Given the description of an element on the screen output the (x, y) to click on. 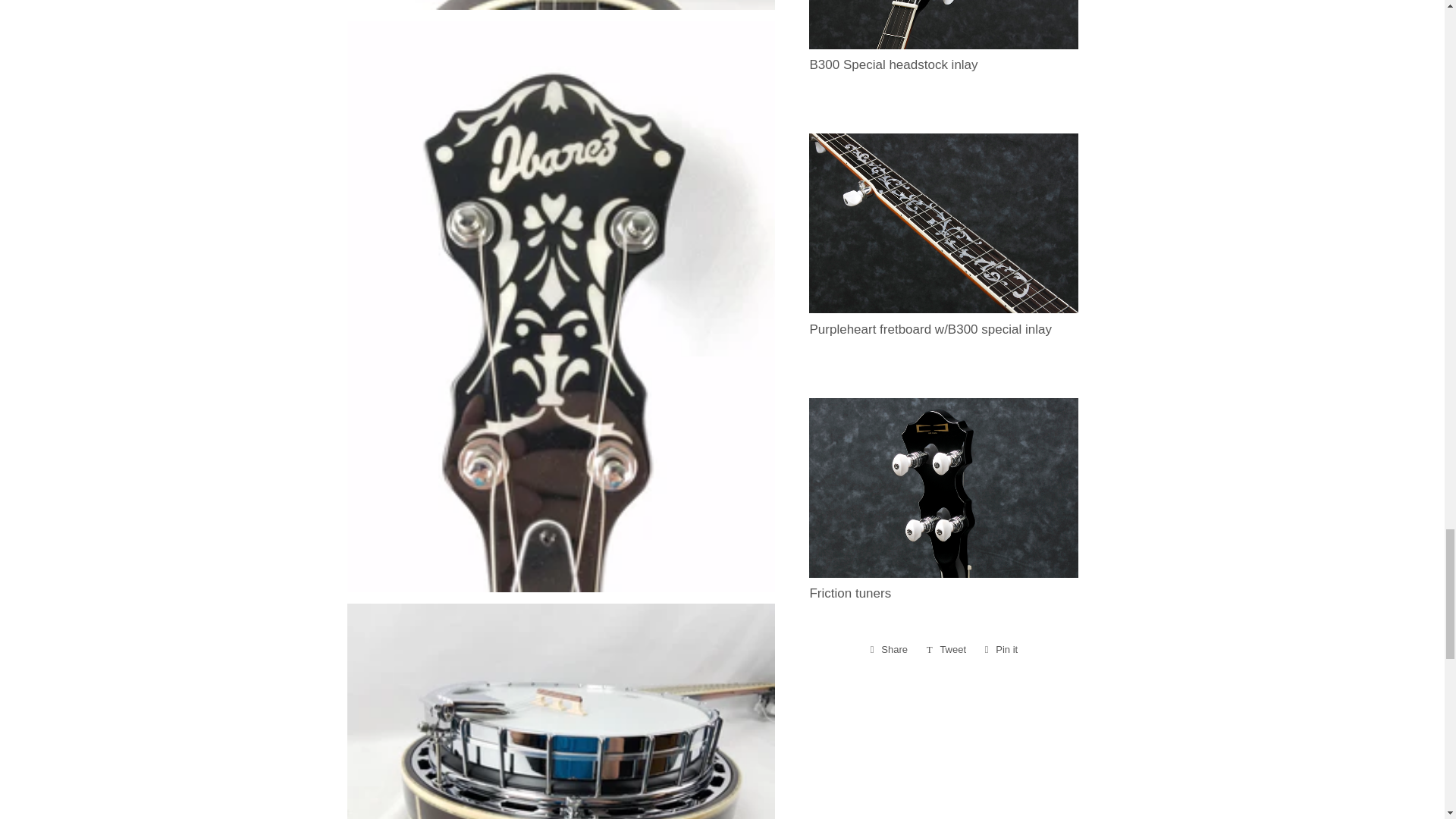
Pin on Pinterest (1000, 649)
Tweet on Twitter (946, 649)
Share on Facebook (889, 649)
